Given the description of an element on the screen output the (x, y) to click on. 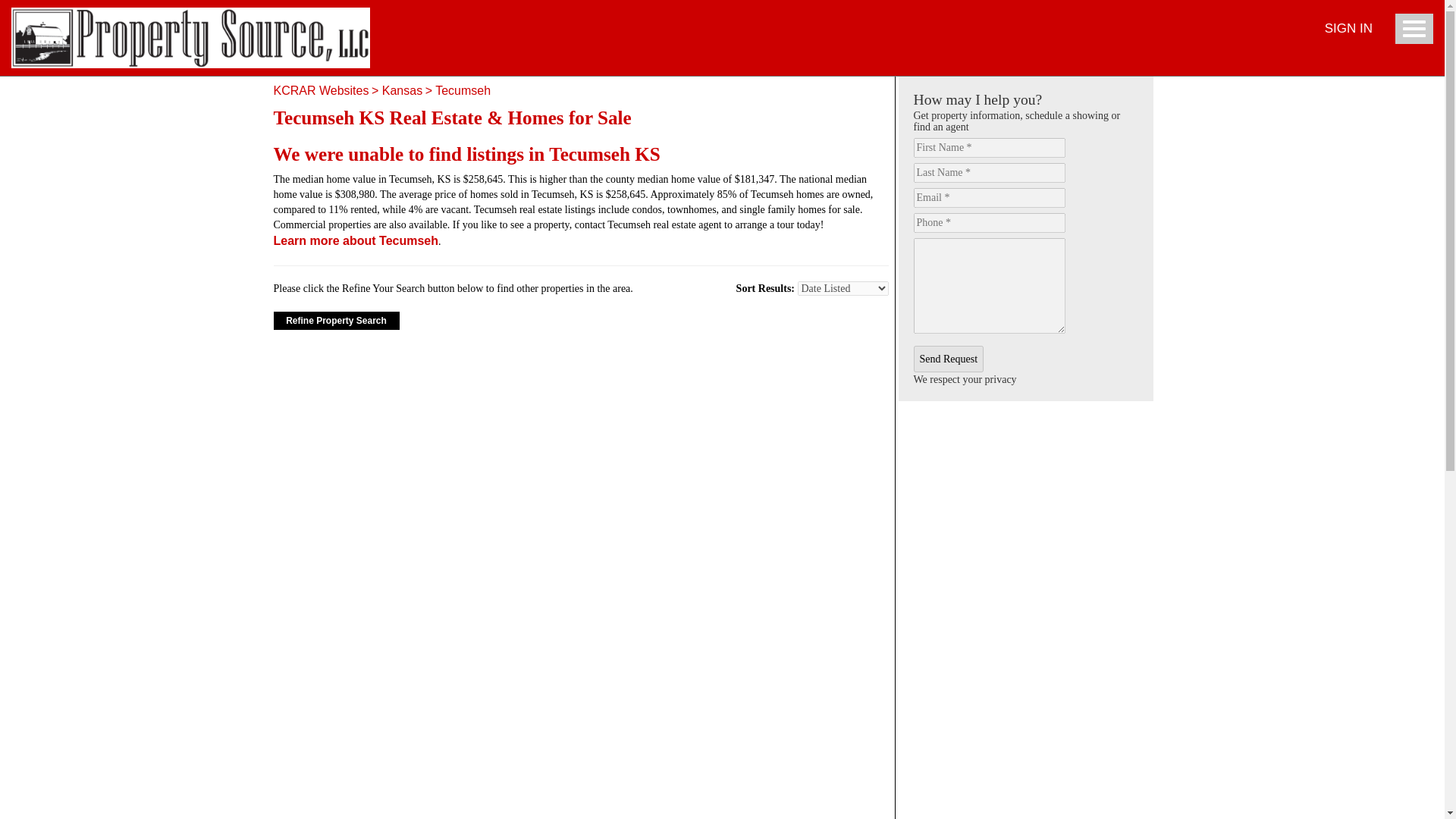
KCRAR Websites (320, 90)
Learn more about Tecumseh (355, 240)
SIGN IN (1348, 28)
Refine Property Search (335, 321)
Send Request (948, 358)
